Given the description of an element on the screen output the (x, y) to click on. 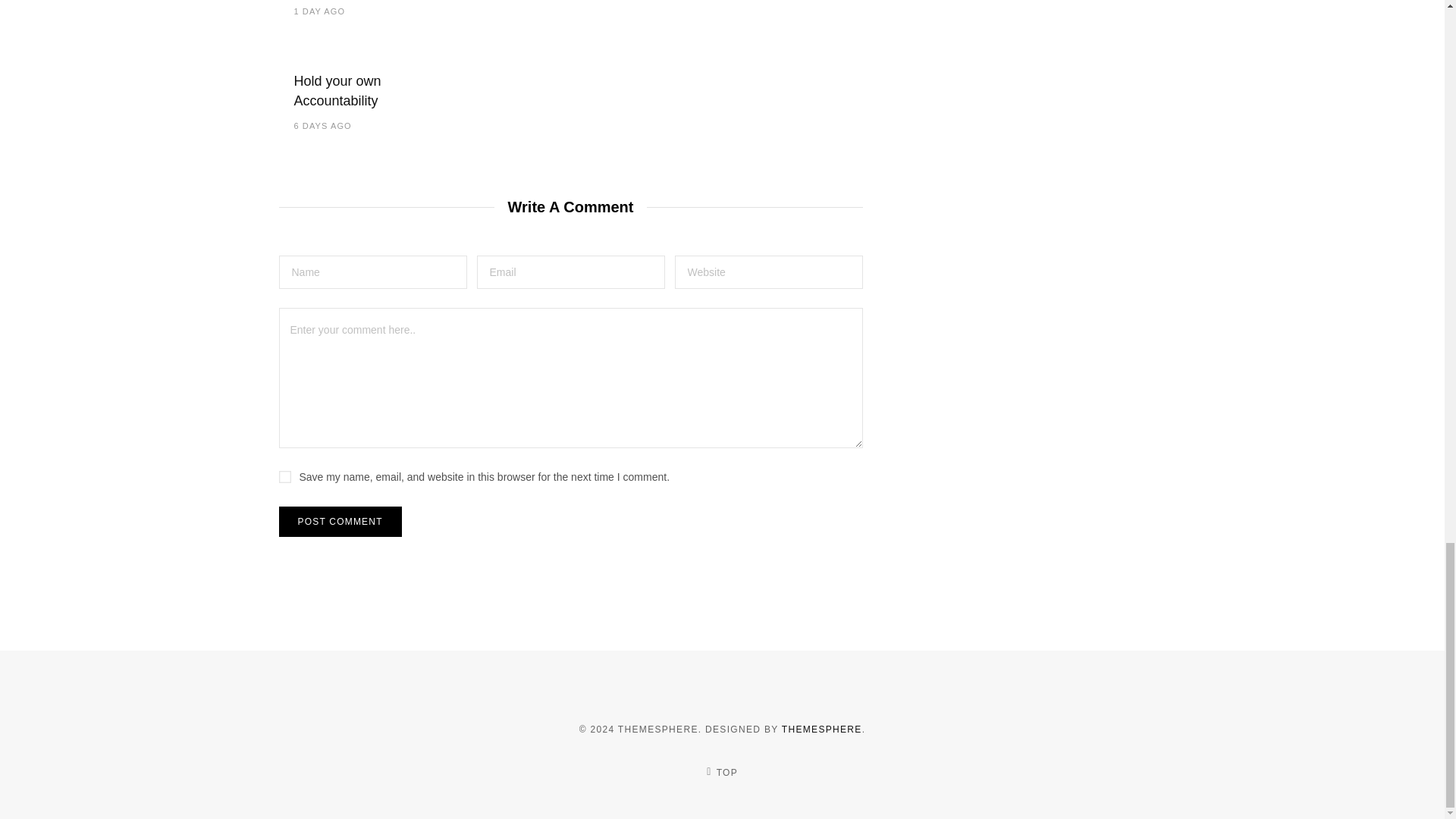
yes (285, 476)
Post Comment (340, 521)
